Given the description of an element on the screen output the (x, y) to click on. 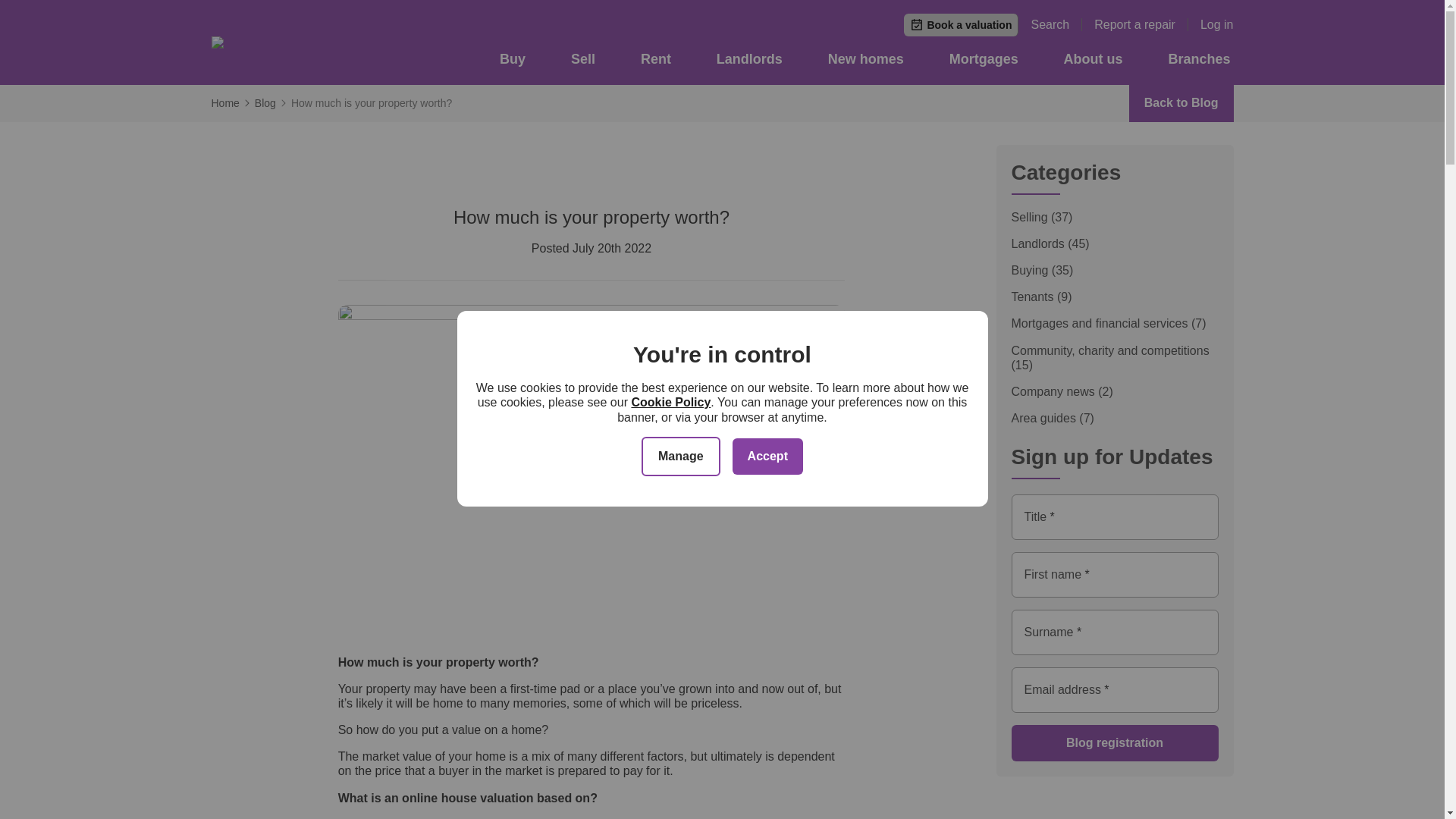
Davis Tate (312, 42)
Book a valuation (960, 24)
Report a repair (1141, 24)
Log in (1216, 24)
Search (1055, 24)
Book a valuation (960, 24)
Search (1055, 24)
Log in (1216, 24)
Report a repair (1141, 24)
